Given the description of an element on the screen output the (x, y) to click on. 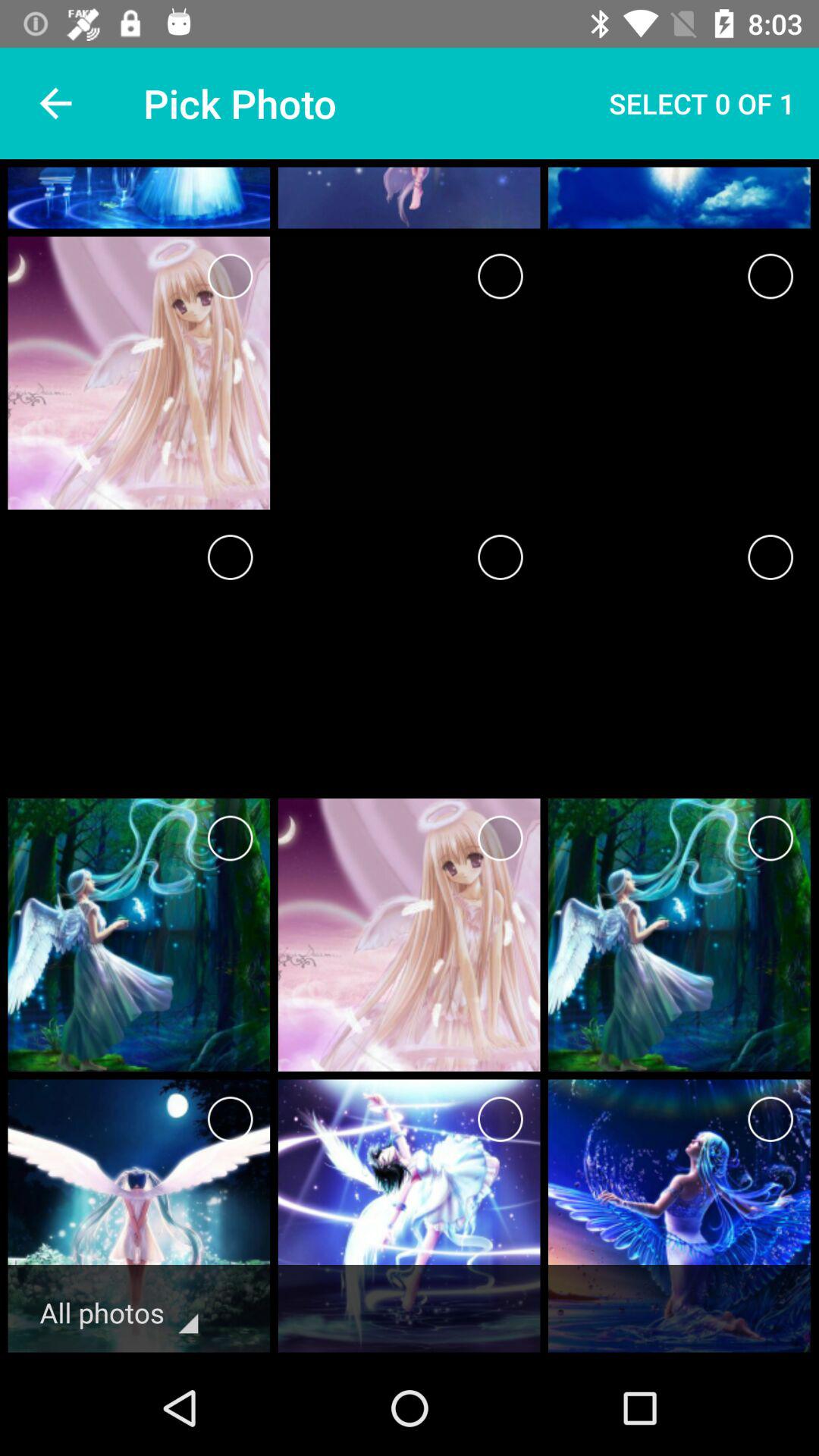
include picture (500, 276)
